Given the description of an element on the screen output the (x, y) to click on. 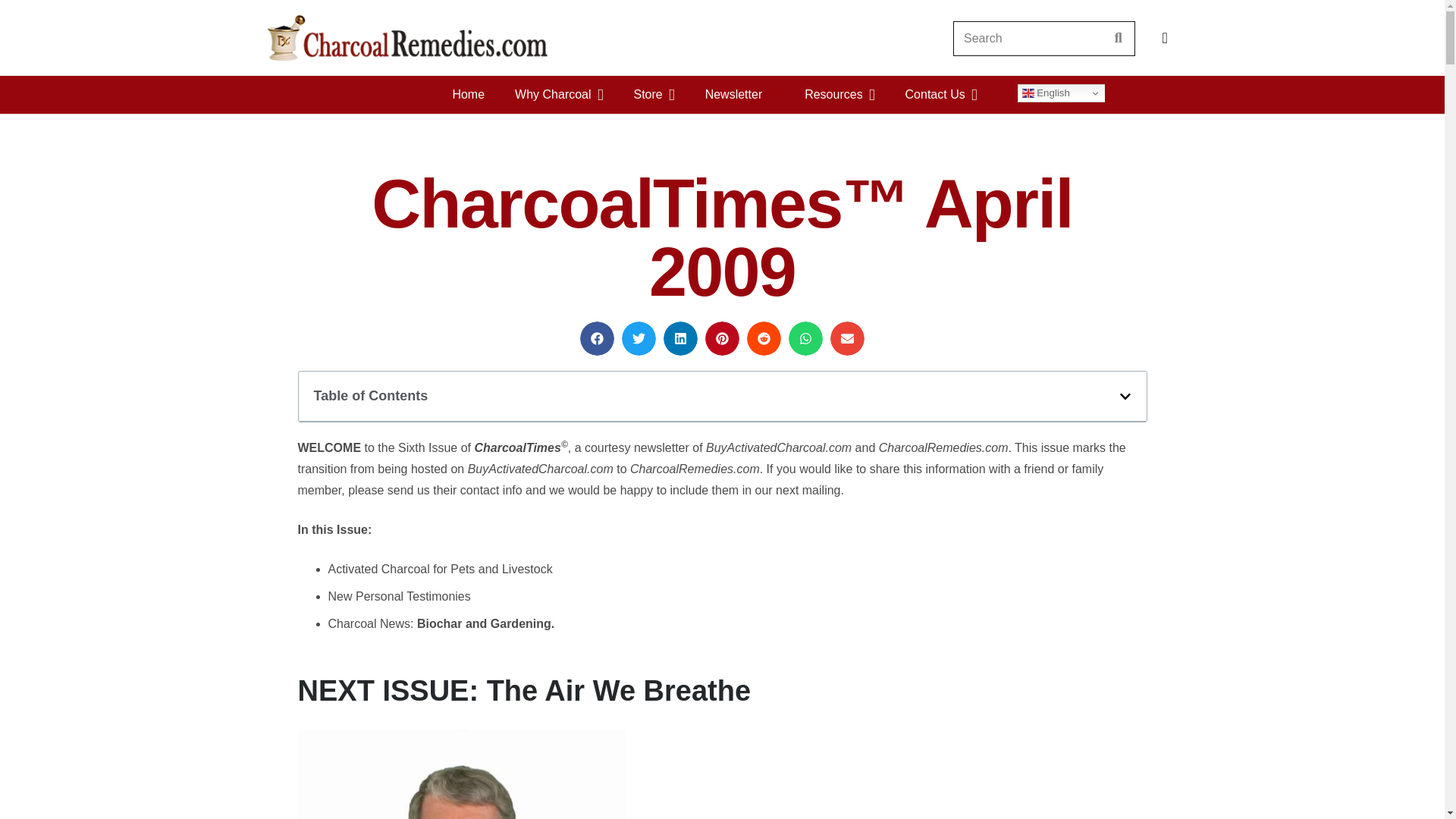
Home (475, 94)
Search (1117, 38)
Store (652, 94)
Why Charcoal (558, 94)
Newsletter (740, 94)
